Given the description of an element on the screen output the (x, y) to click on. 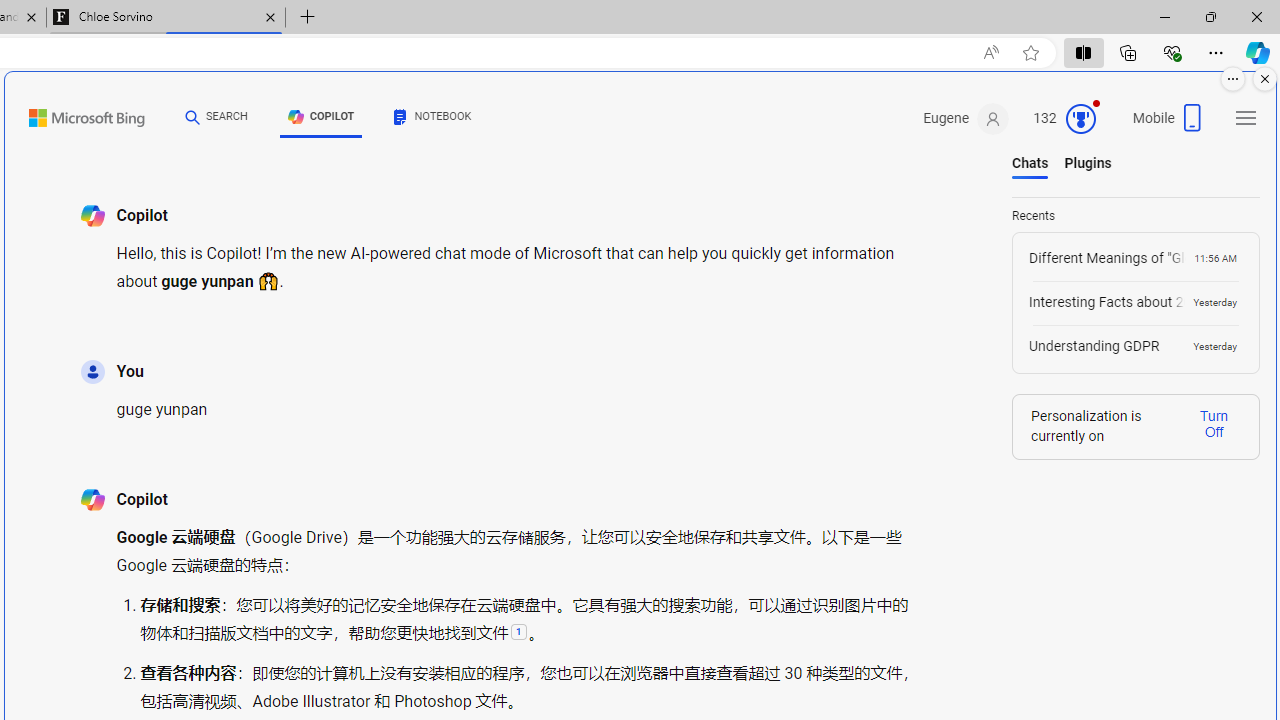
Chat (193, 116)
Chloe Sorvino (166, 17)
Back to Bing search (74, 113)
Eugene (965, 119)
Chat (193, 116)
Settings and quick links (1245, 117)
COPILOT (321, 116)
